Given the description of an element on the screen output the (x, y) to click on. 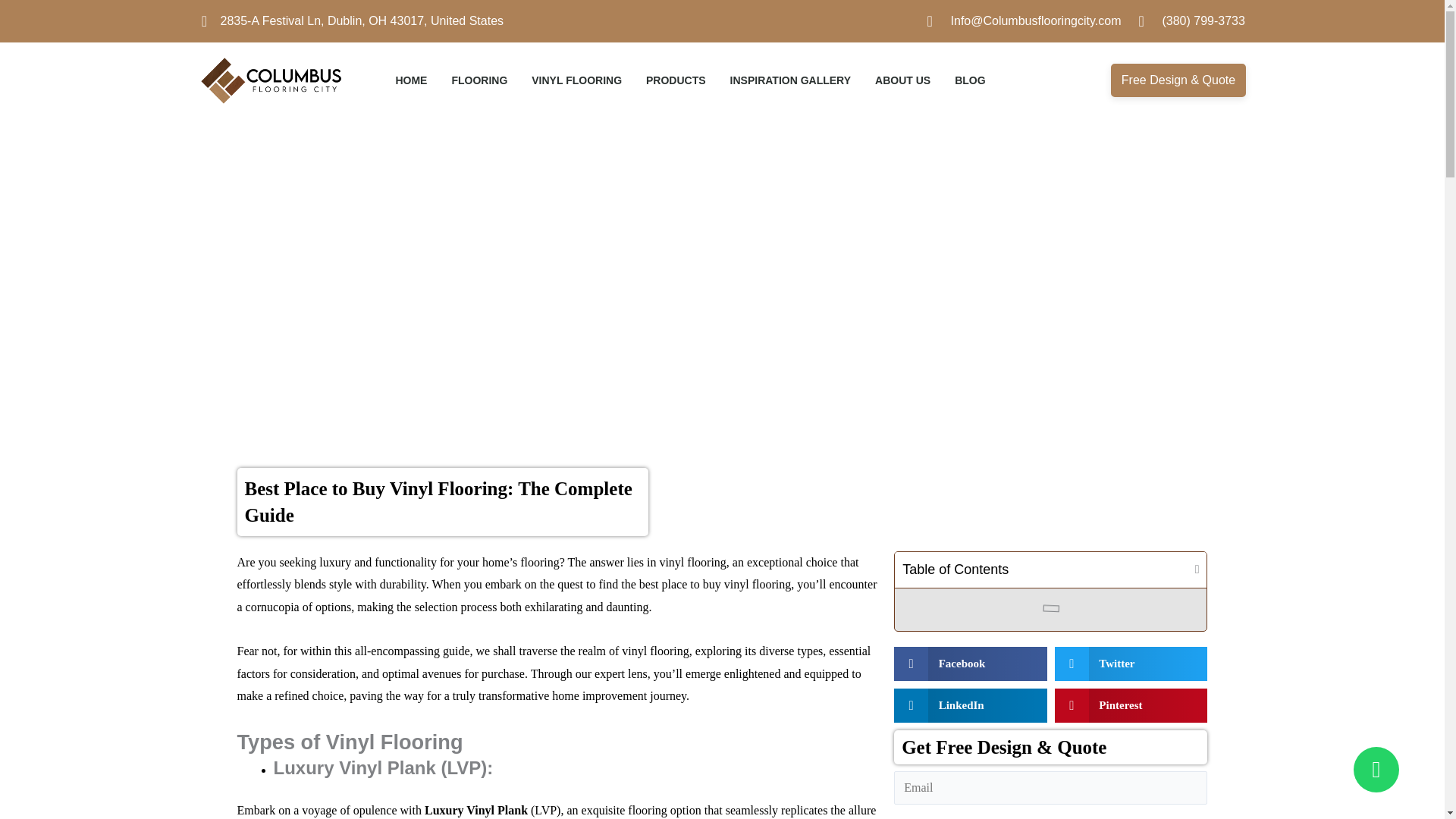
BLOG (969, 79)
2835-A Festival Ln, Dublin, OH 43017, United States (350, 20)
HOME (410, 79)
ABOUT US (902, 79)
VINYL FLOORING (576, 79)
INSPIRATION GALLERY (790, 79)
PRODUCTS (676, 79)
FLOORING (479, 79)
